Given the description of an element on the screen output the (x, y) to click on. 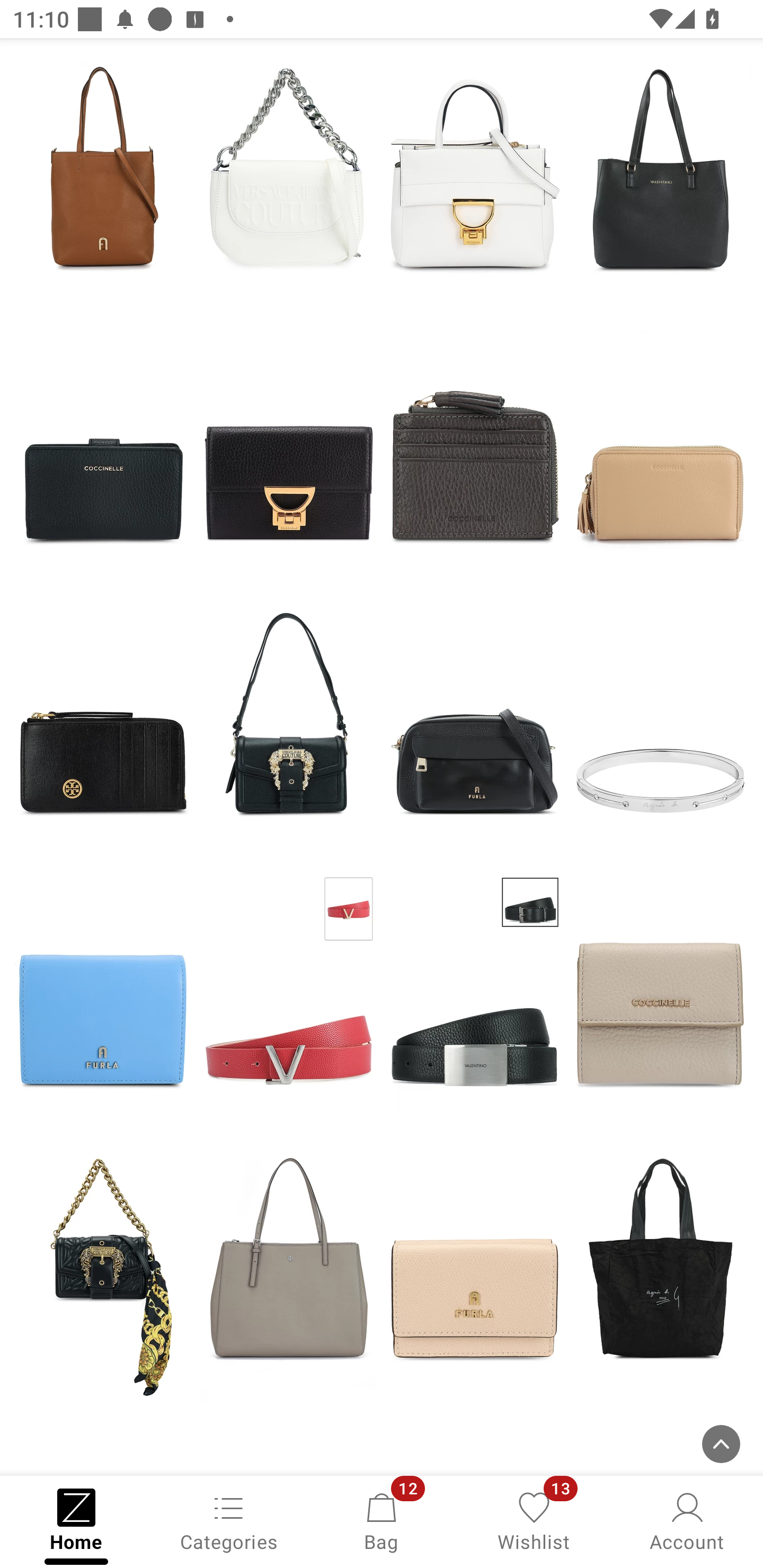
Categories (228, 1519)
Bag, 12 new notifications Bag (381, 1519)
Wishlist, 13 new notifications Wishlist (533, 1519)
Account (686, 1519)
